Given the description of an element on the screen output the (x, y) to click on. 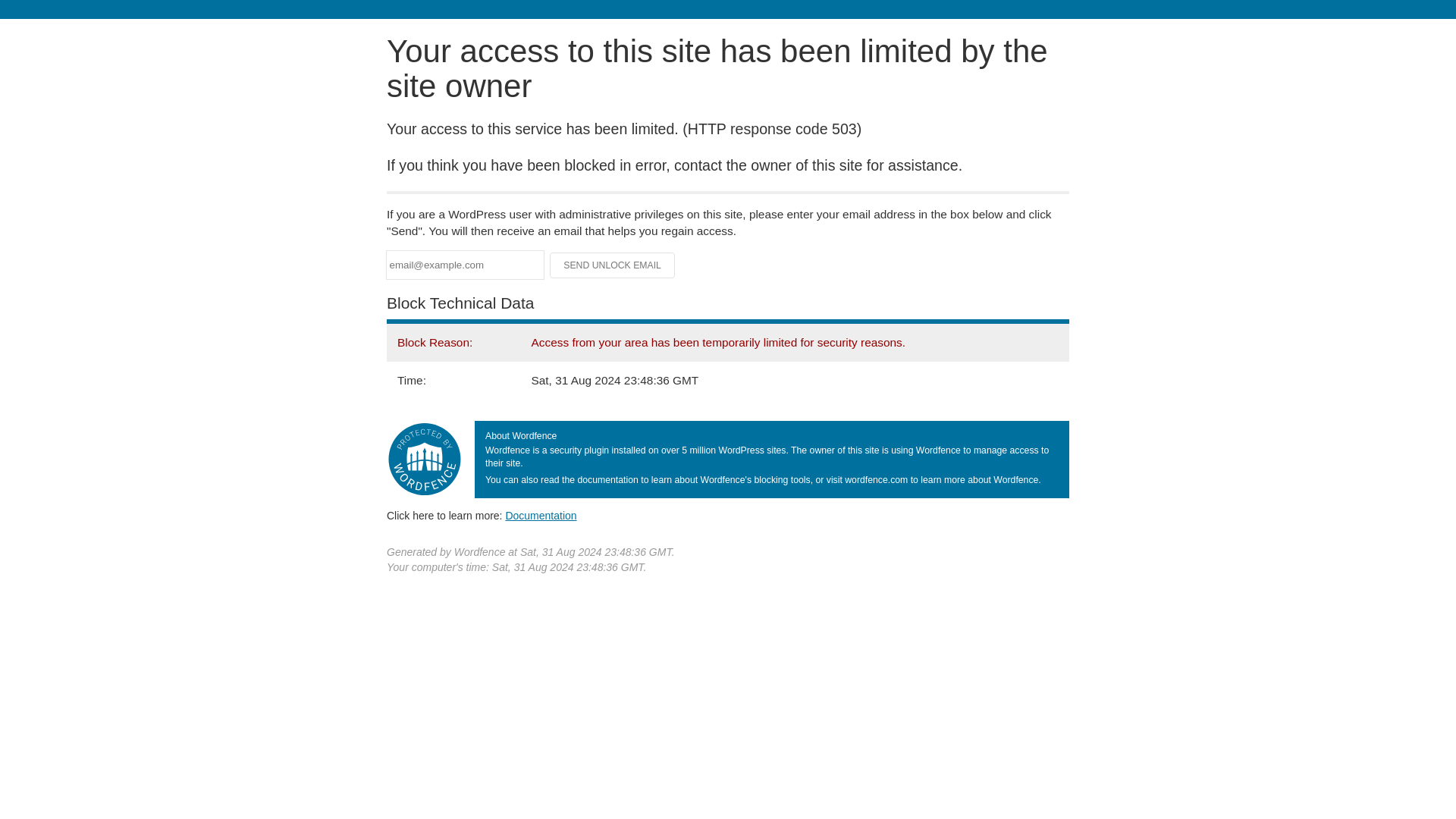
Send Unlock Email (612, 265)
Send Unlock Email (612, 265)
Documentation (540, 515)
